Given the description of an element on the screen output the (x, y) to click on. 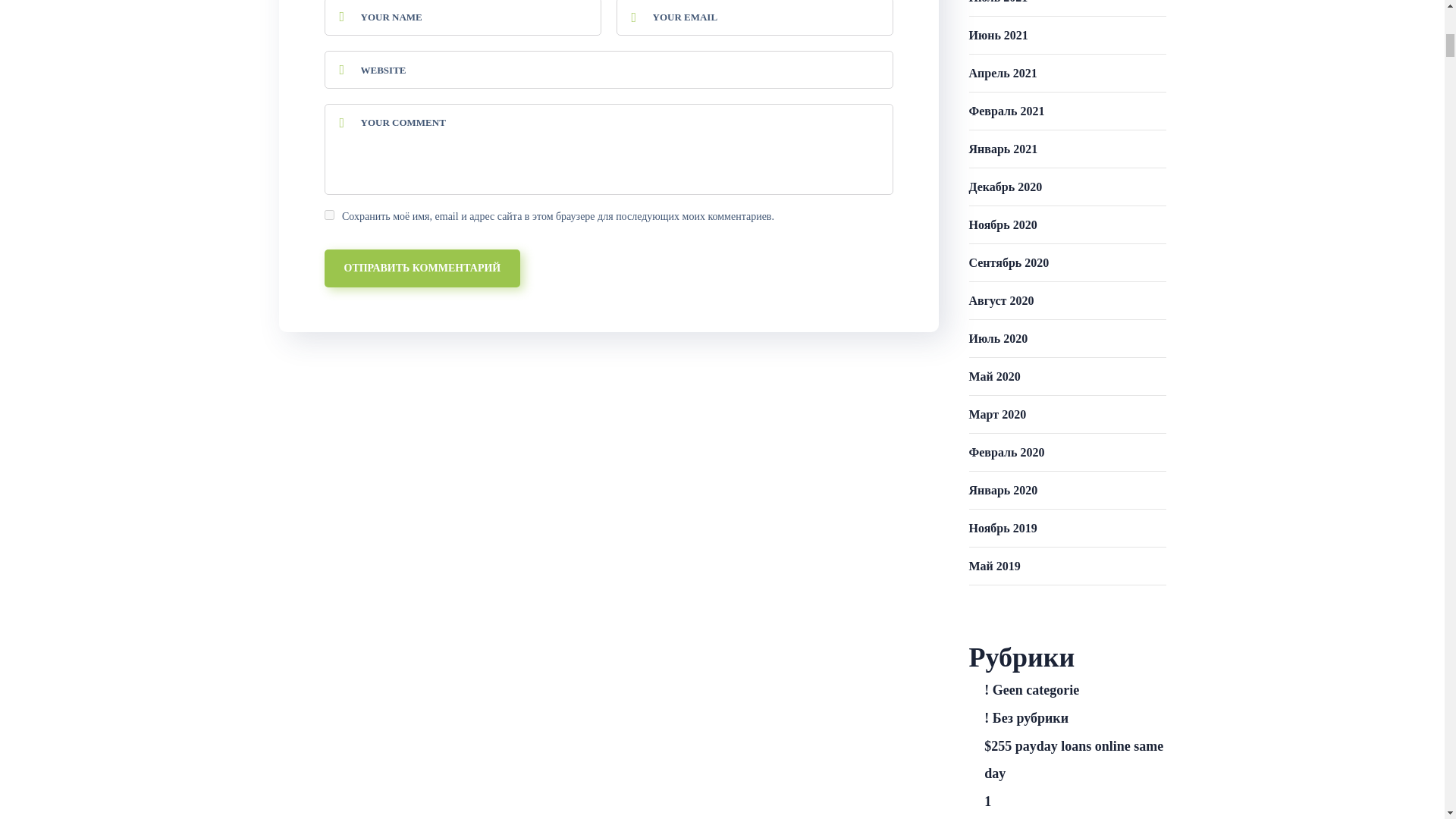
YOUR EMAIL (753, 18)
WEBSITE (608, 69)
yes (329, 214)
YOUR NAME (462, 18)
